Given the description of an element on the screen output the (x, y) to click on. 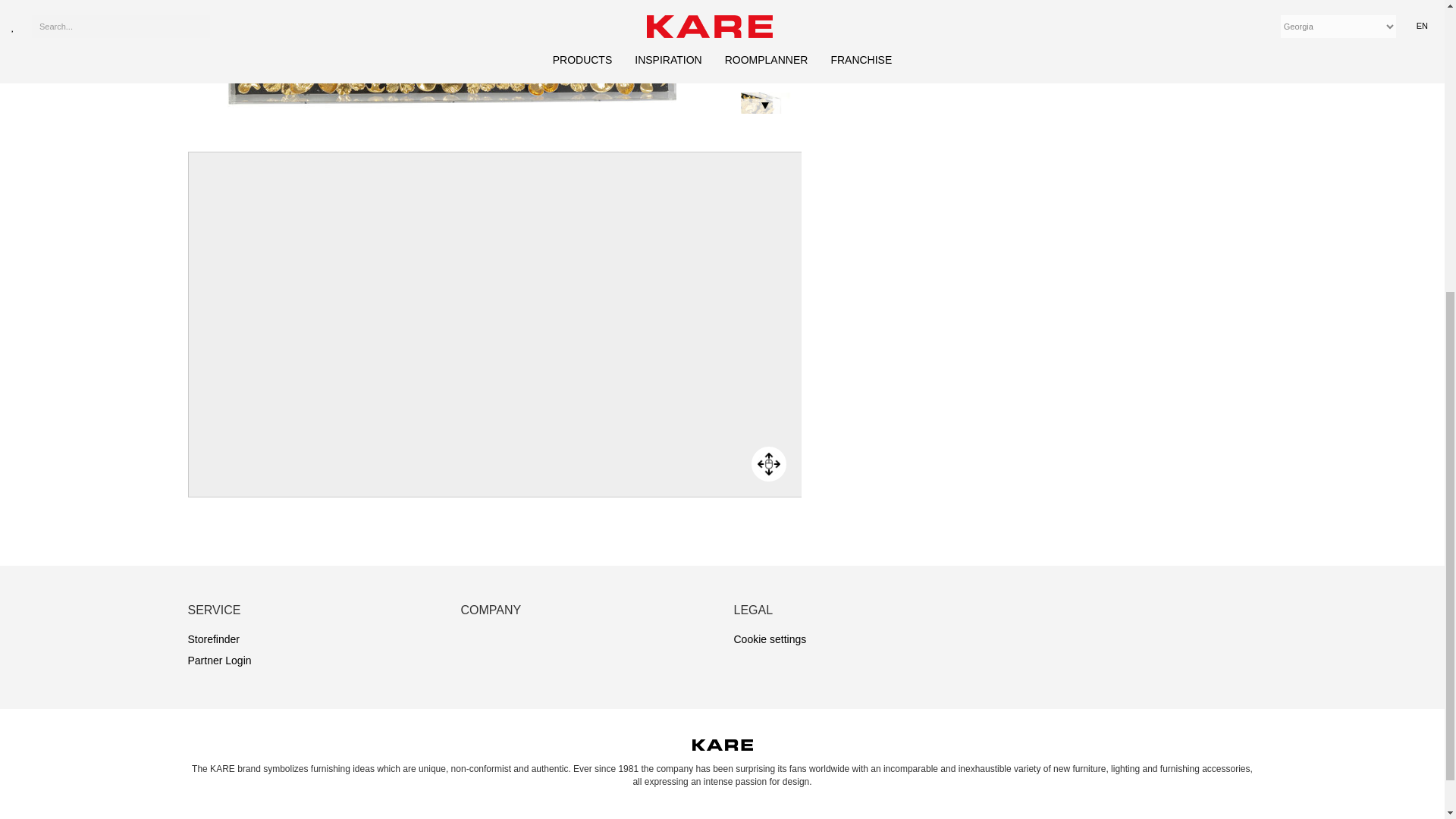
Partner Login (219, 660)
Cookie settings (769, 639)
Storefinder (213, 639)
